Given the description of an element on the screen output the (x, y) to click on. 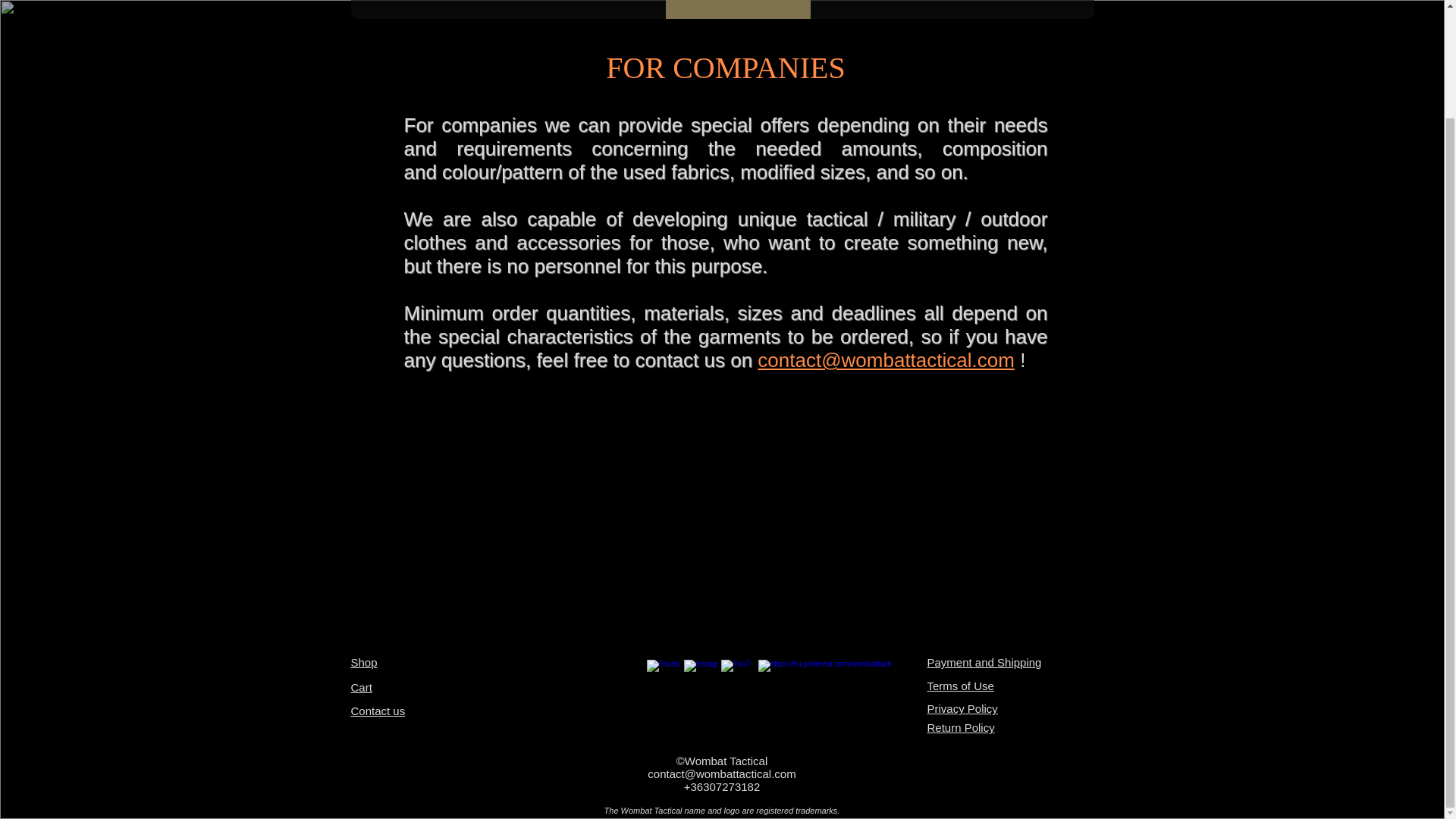
HOME (383, 9)
CUSTOMER INFO (737, 9)
WEBSHOP (465, 9)
Blog (638, 9)
ABOUT US (562, 9)
CONTACT (857, 9)
